Given the description of an element on the screen output the (x, y) to click on. 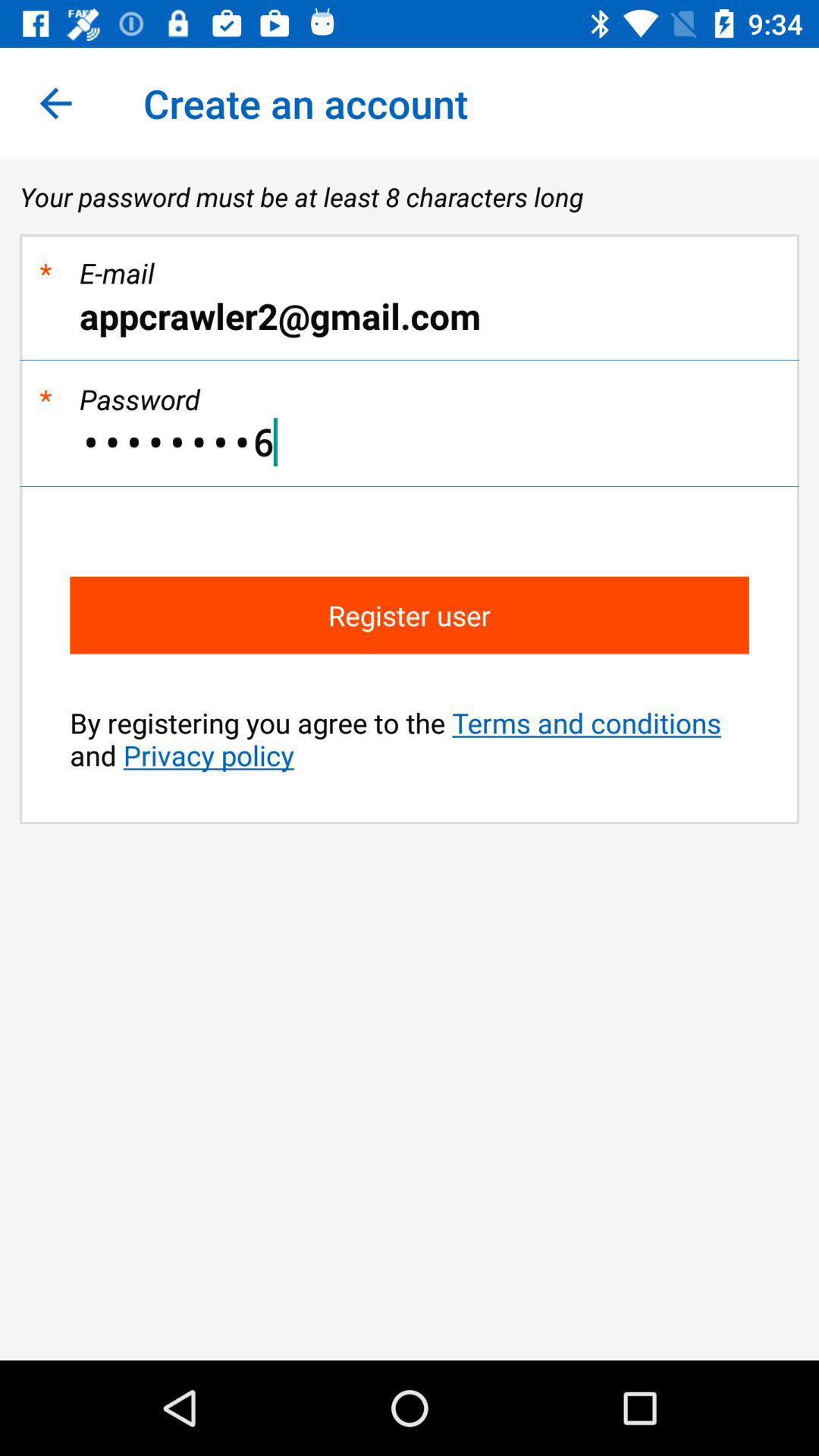
click the item below the * (409, 315)
